Given the description of an element on the screen output the (x, y) to click on. 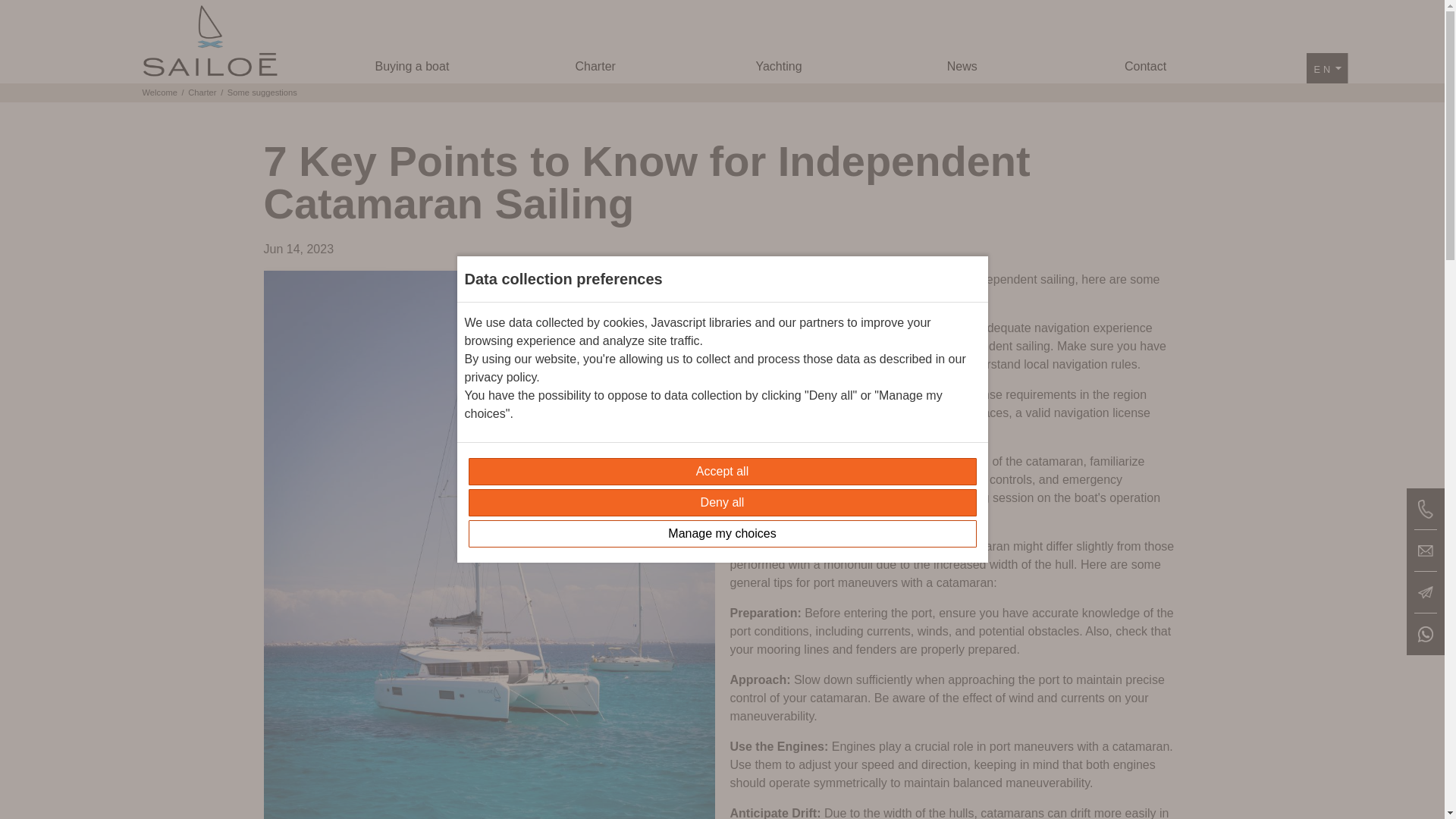
Contact (1145, 66)
News (962, 66)
Charter (594, 66)
Welcome (159, 92)
Buying a boat (412, 66)
Yachting (778, 66)
Some suggestions (262, 92)
